Given the description of an element on the screen output the (x, y) to click on. 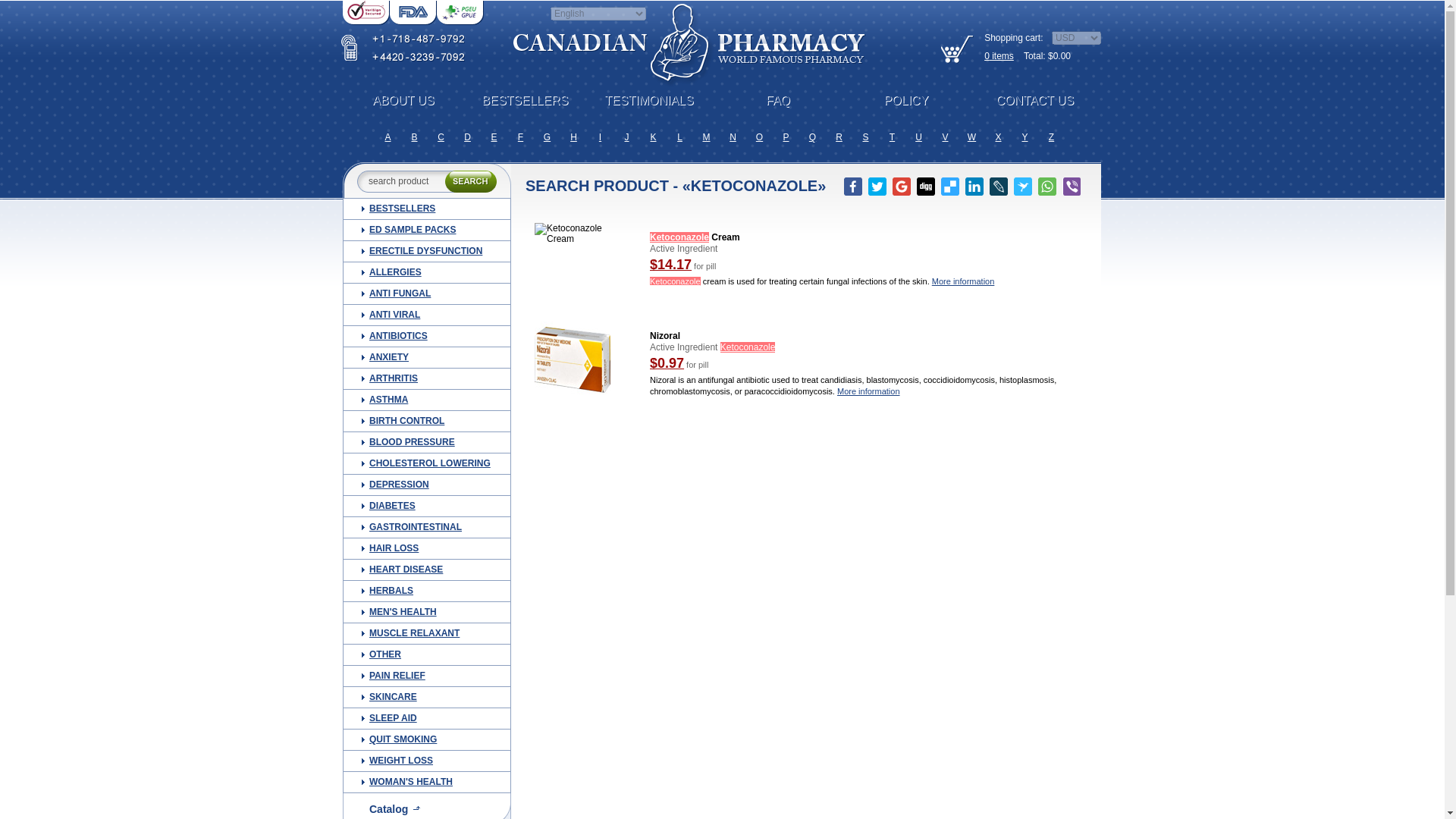
Digg (925, 186)
N (732, 137)
R (838, 137)
LinkedIn (974, 186)
H (573, 137)
Twitter (876, 186)
U (918, 137)
K (653, 137)
L (679, 137)
A (387, 137)
J (626, 137)
Facebook (852, 186)
Delicious (949, 186)
E (493, 137)
Surfingbird (1022, 186)
